Given the description of an element on the screen output the (x, y) to click on. 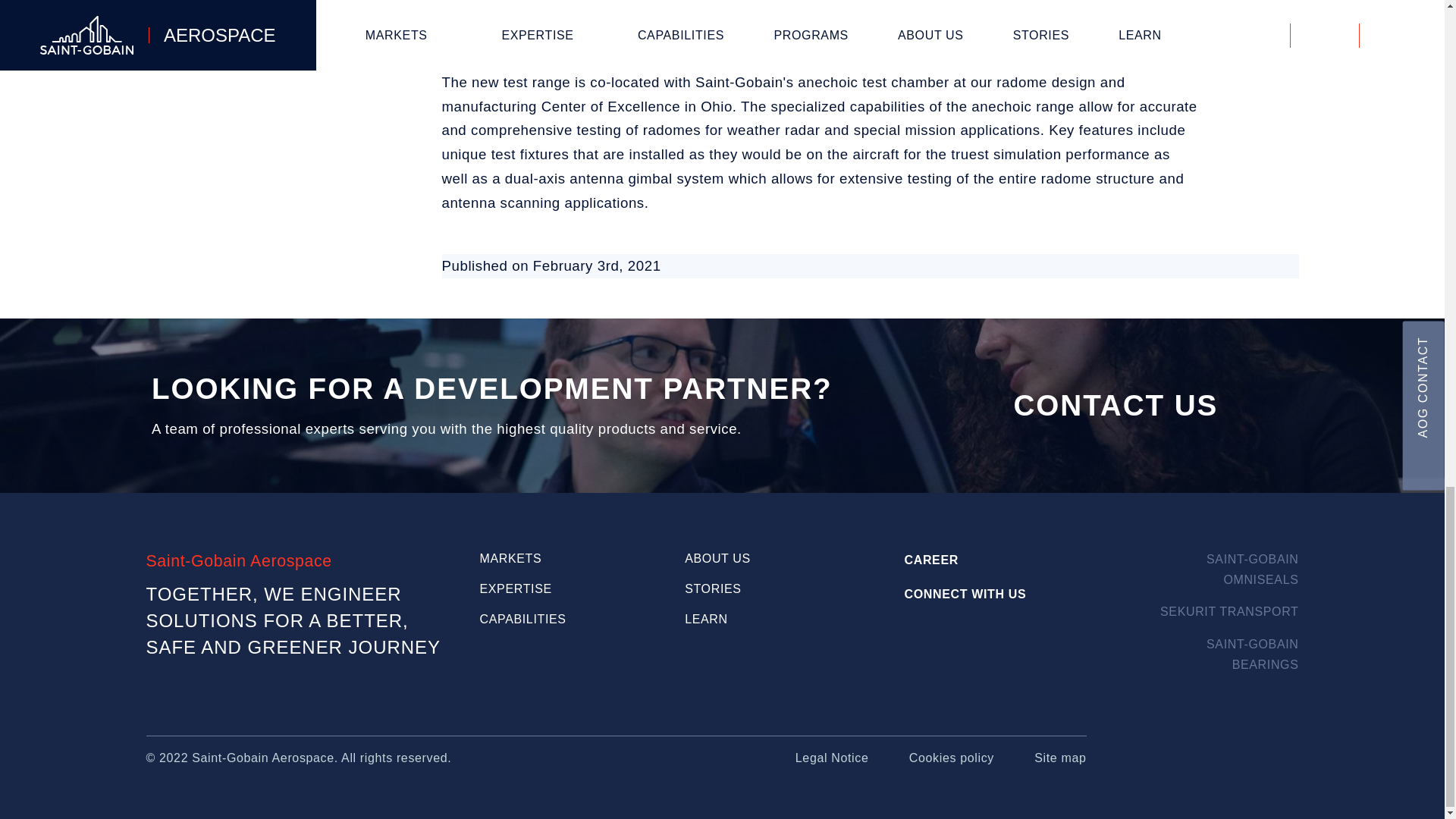
Footer logo (1212, 774)
